Given the description of an element on the screen output the (x, y) to click on. 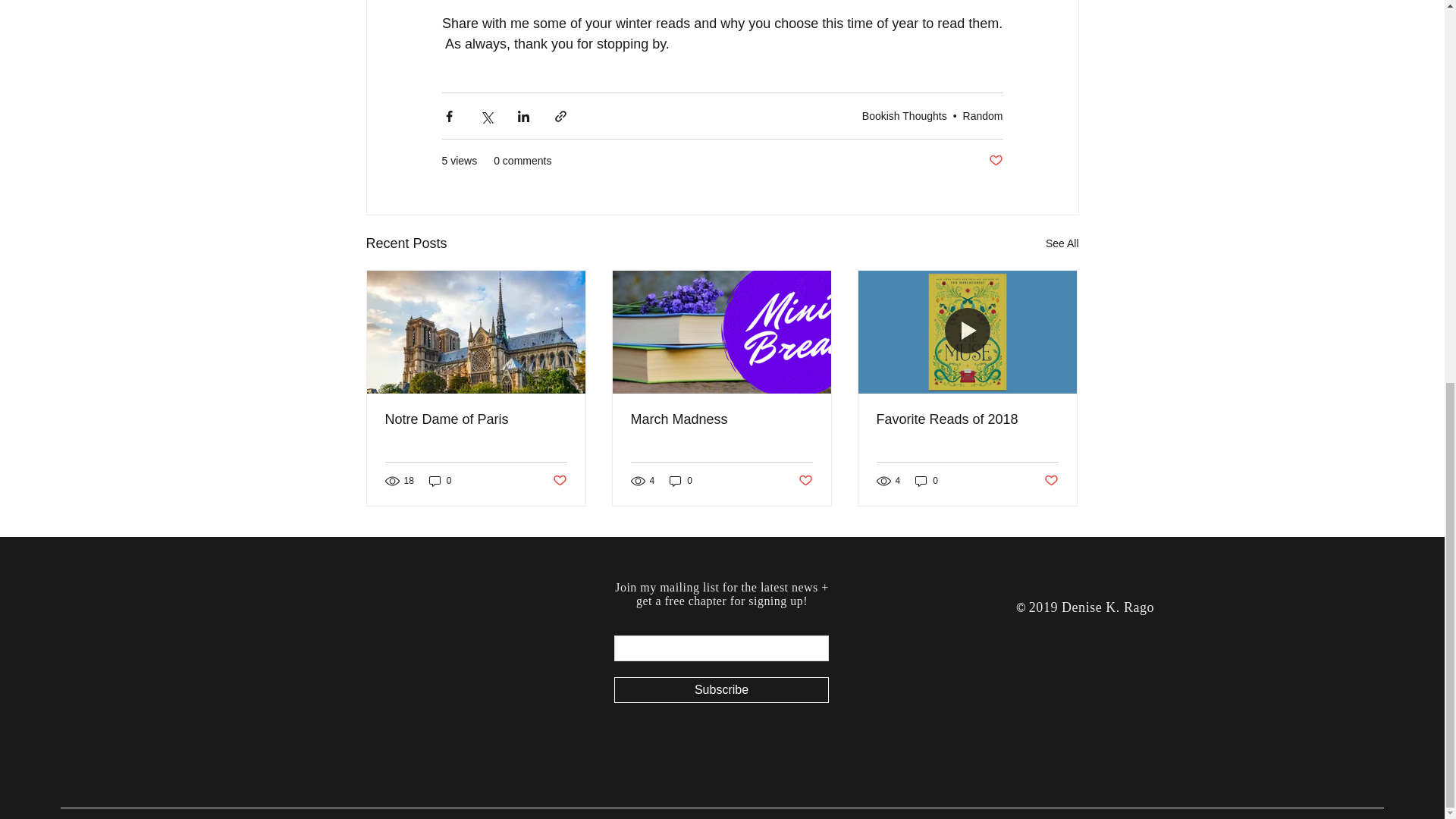
See All (1061, 243)
March Madness (721, 419)
0 (681, 481)
Post not marked as liked (558, 480)
Bookish Thoughts (904, 115)
Notre Dame of Paris (476, 419)
Post not marked as liked (1050, 480)
0 (926, 481)
Post not marked as liked (995, 160)
0 (440, 481)
Subscribe (721, 689)
Post not marked as liked (804, 480)
Favorite Reads of 2018 (967, 419)
Random (982, 115)
